Given the description of an element on the screen output the (x, y) to click on. 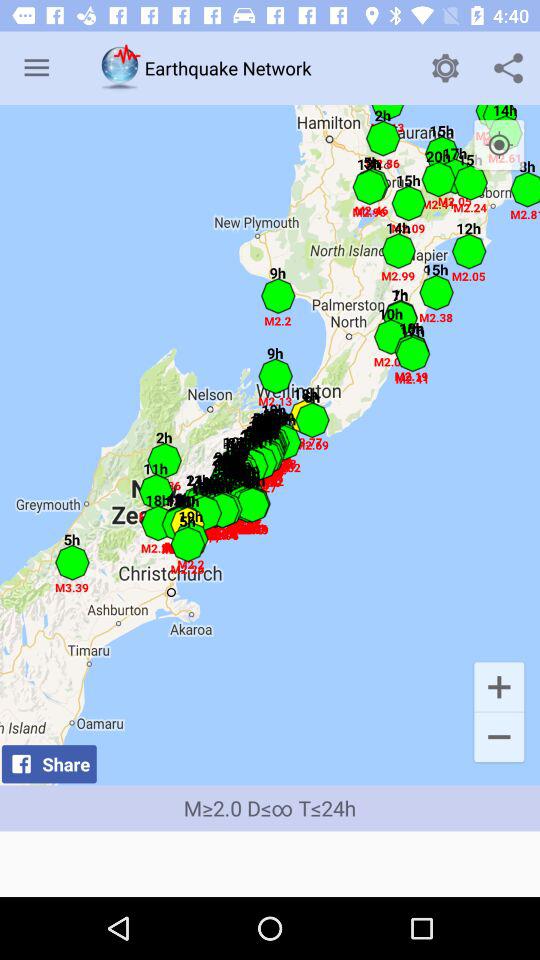
press the icon at the center (270, 445)
